Given the description of an element on the screen output the (x, y) to click on. 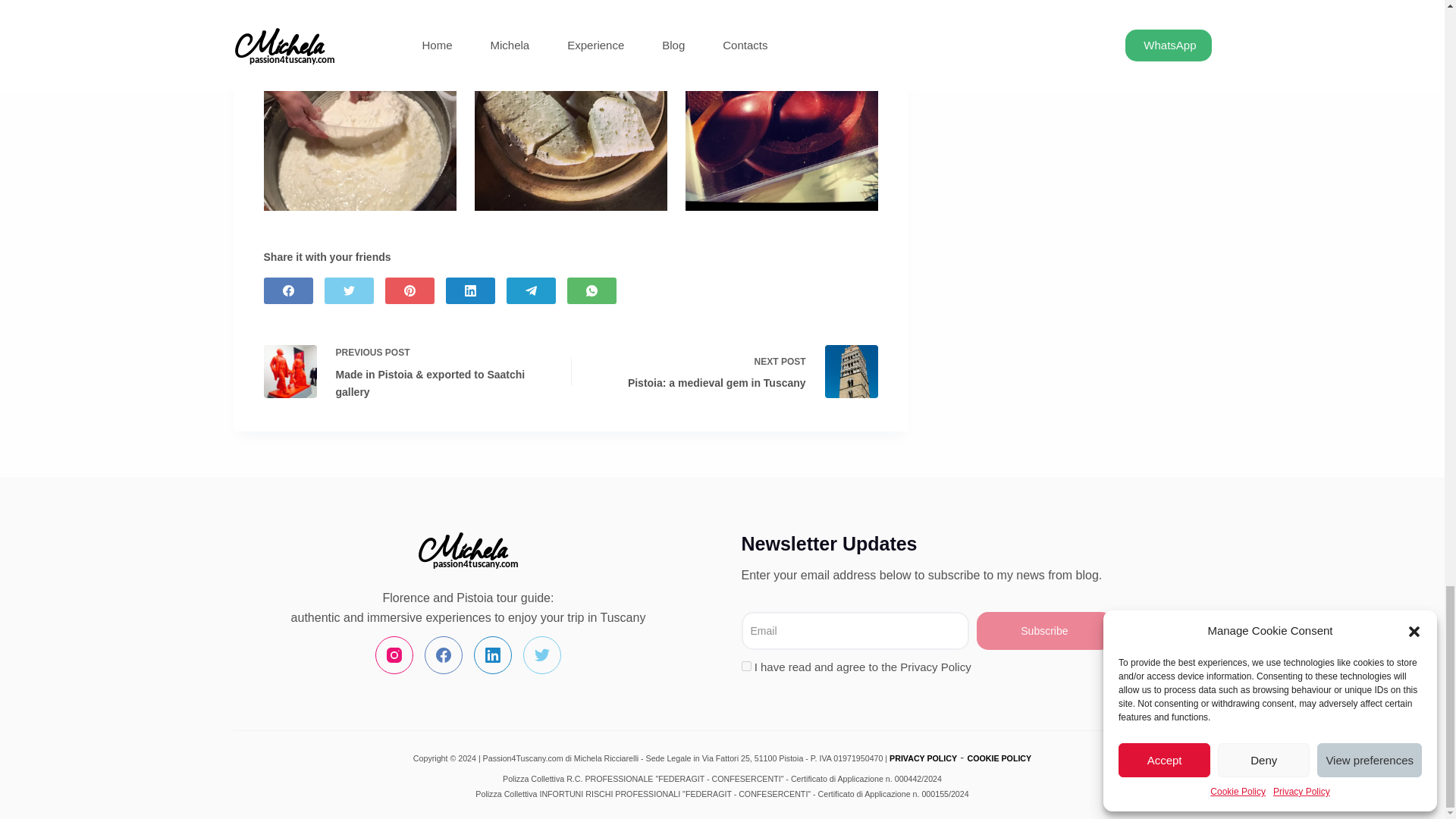
Subscribe (1044, 630)
on (746, 665)
